Given the description of an element on the screen output the (x, y) to click on. 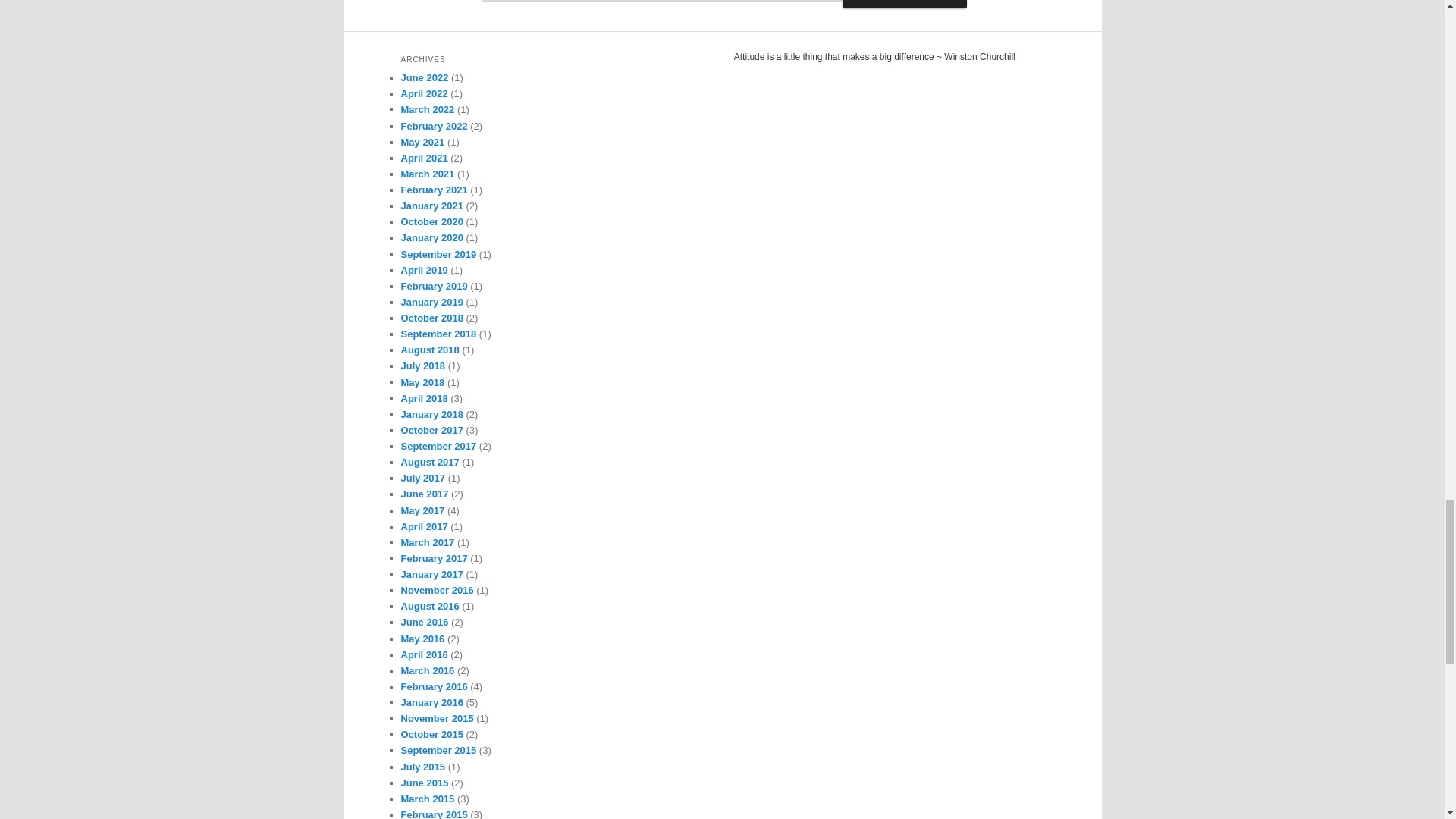
Post Comment (904, 3)
